Given the description of an element on the screen output the (x, y) to click on. 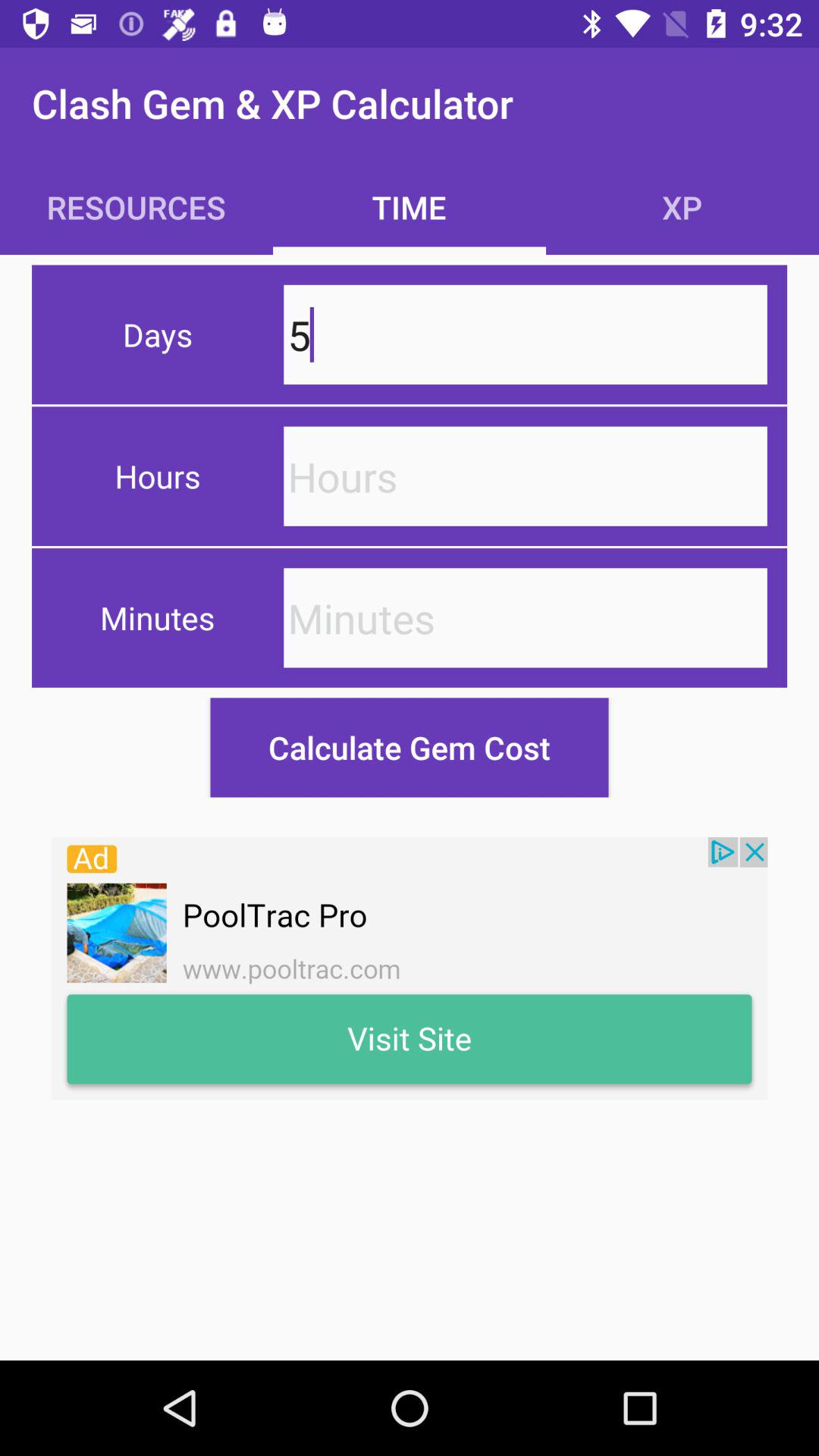
click advertisement (409, 968)
